Given the description of an element on the screen output the (x, y) to click on. 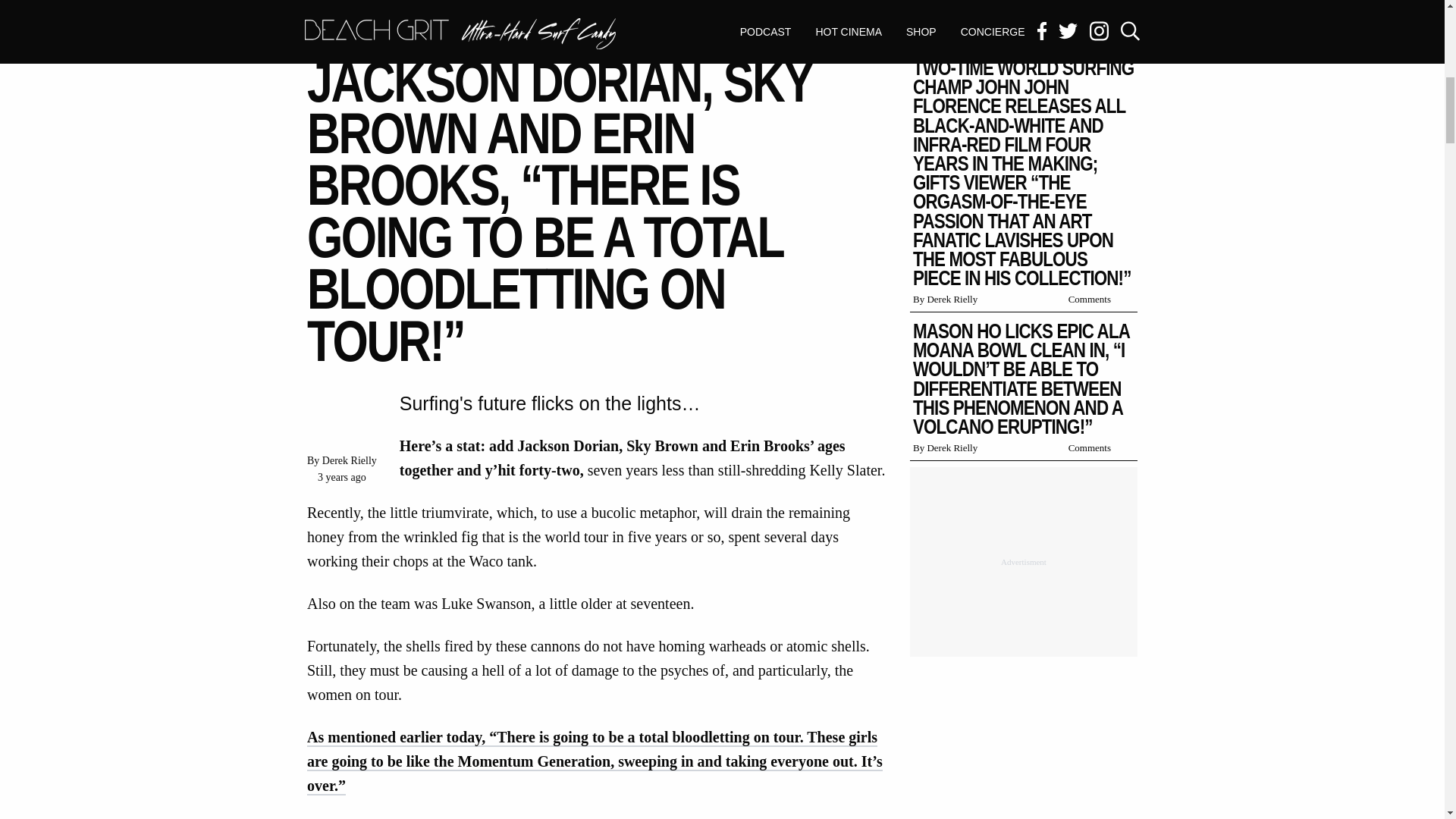
Derek Rielly (349, 460)
